Given the description of an element on the screen output the (x, y) to click on. 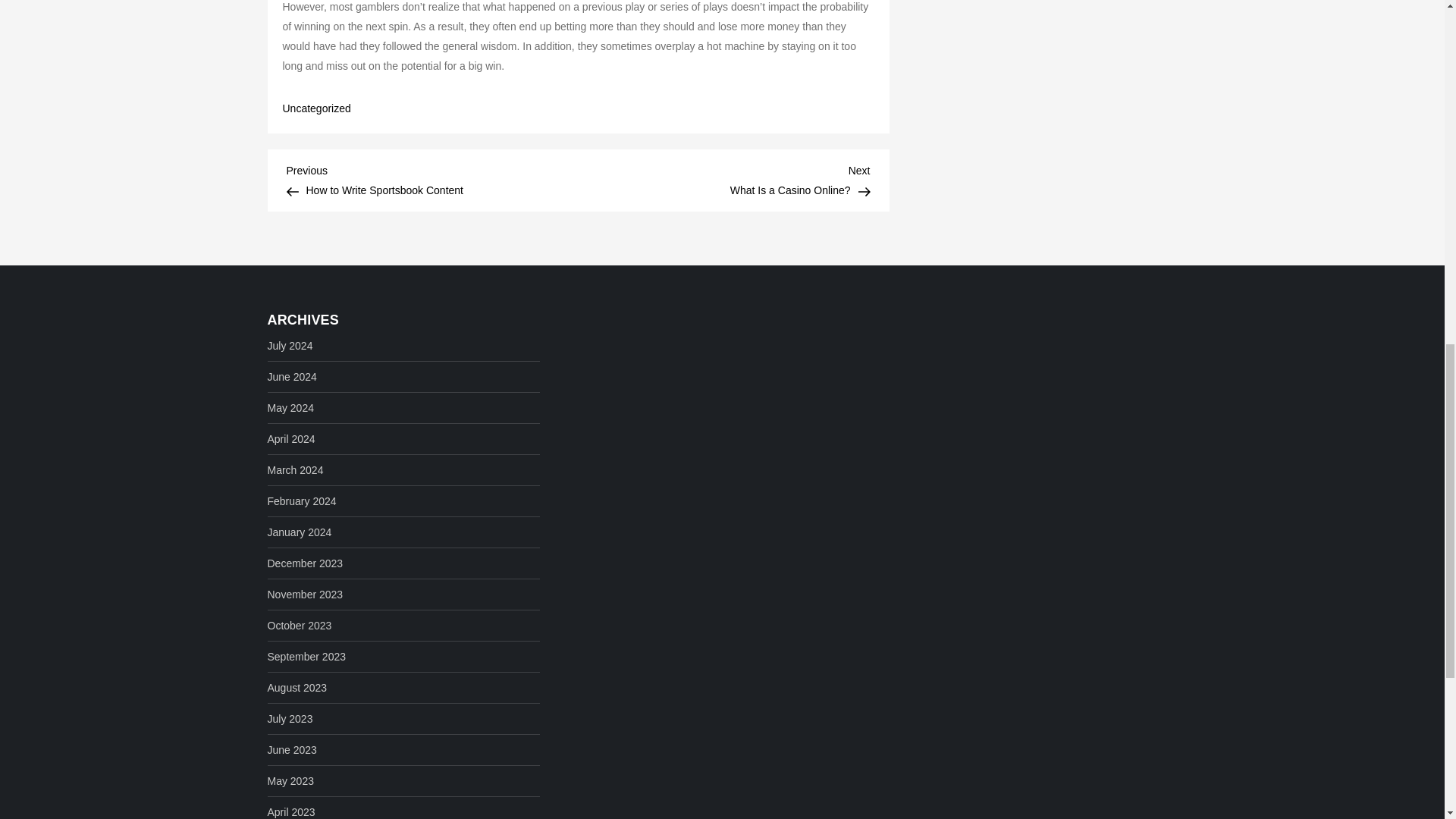
April 2023 (290, 810)
November 2023 (432, 178)
January 2024 (304, 594)
Uncategorized (298, 532)
July 2024 (316, 108)
March 2024 (289, 345)
June 2024 (294, 469)
August 2023 (290, 376)
May 2023 (296, 687)
December 2023 (289, 781)
October 2023 (304, 563)
September 2023 (298, 625)
July 2023 (306, 656)
